Given the description of an element on the screen output the (x, y) to click on. 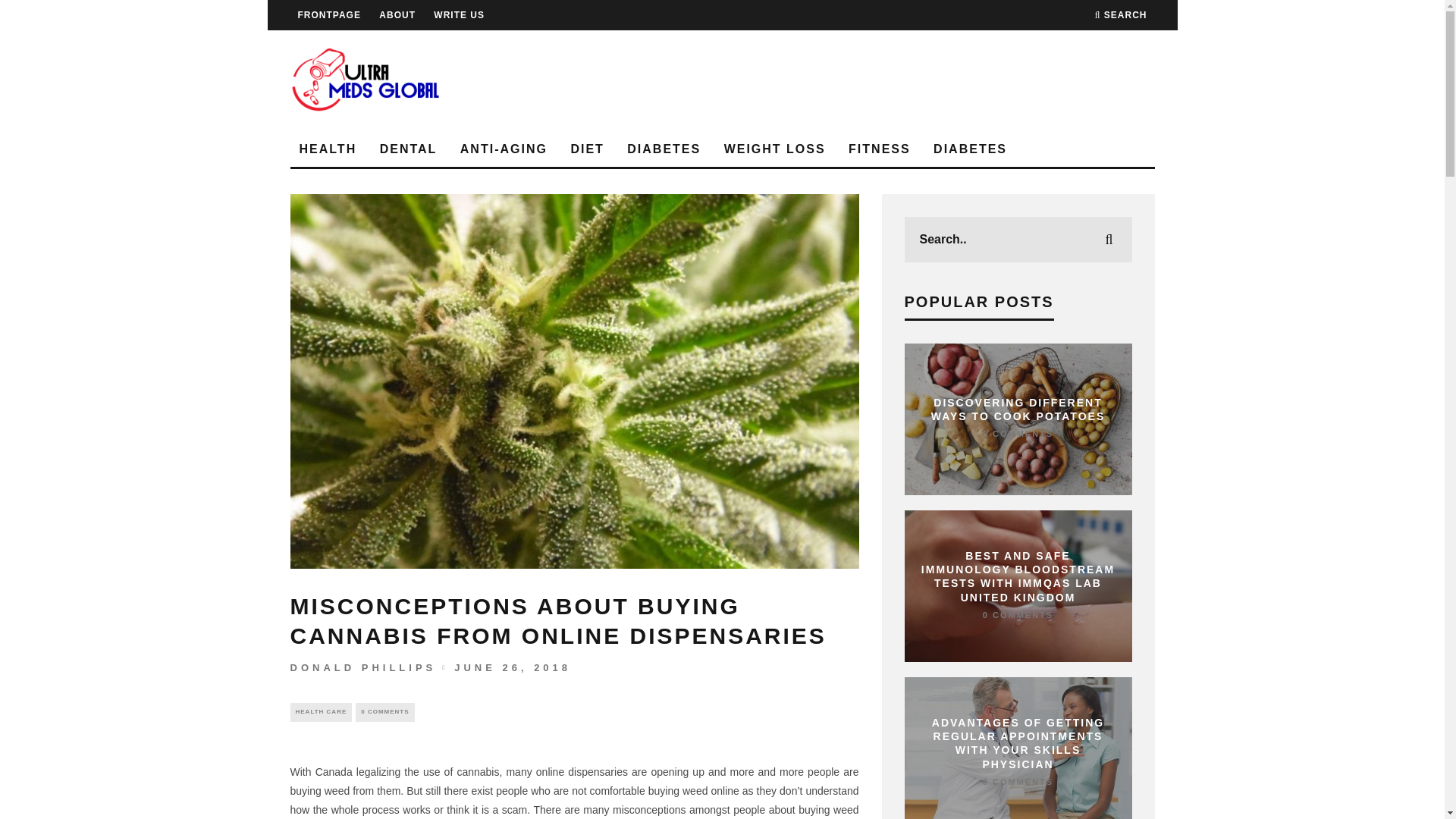
ANTI-AGING (503, 149)
WEIGHT LOSS (774, 149)
ABOUT (396, 15)
SEARCH (1120, 15)
HEALTH (327, 149)
DIABETES (970, 149)
DIET (586, 149)
Search (1120, 15)
DONALD PHILLIPS (362, 667)
View all posts in Health Care (320, 711)
